Given the description of an element on the screen output the (x, y) to click on. 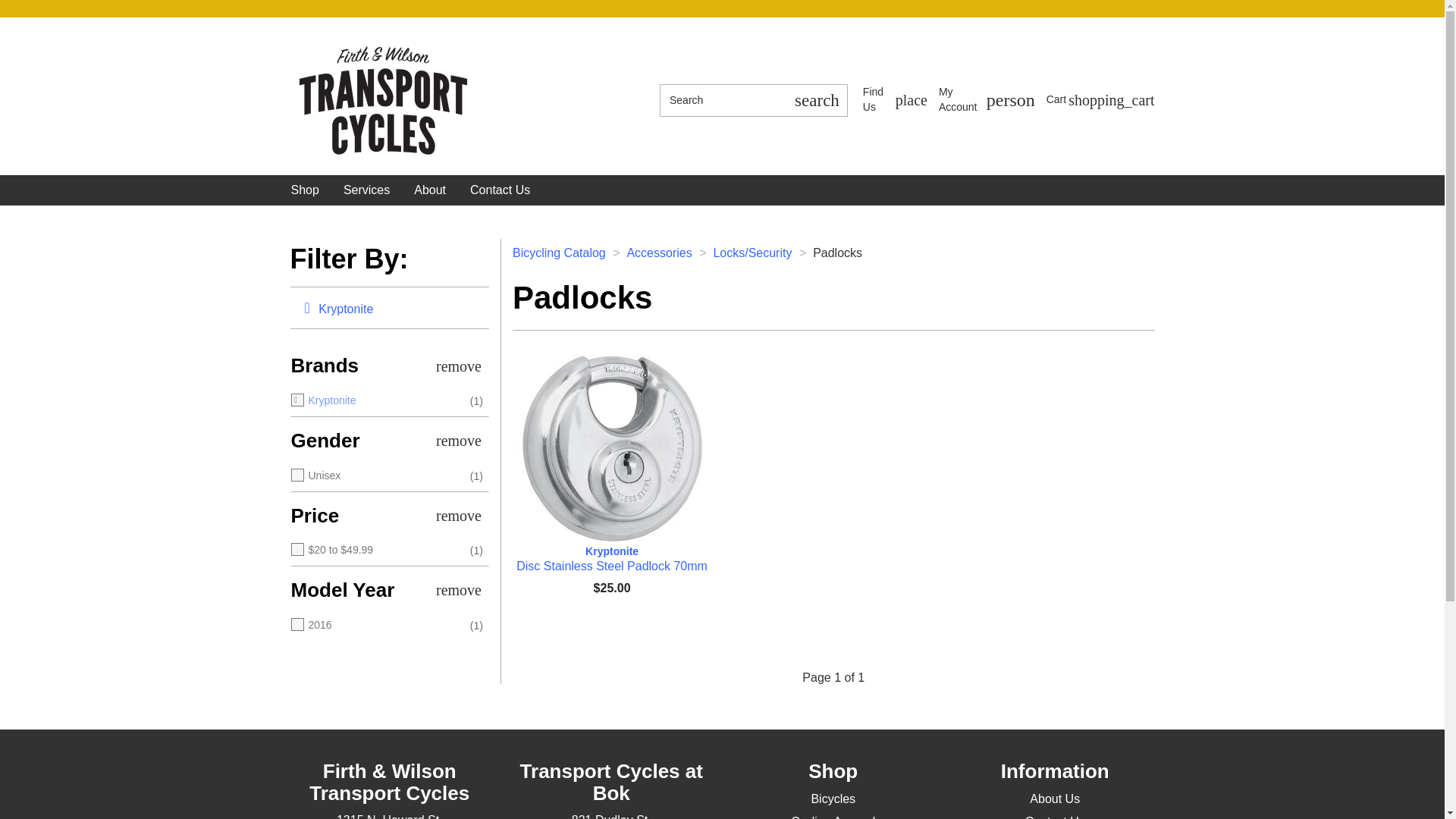
Search (895, 100)
Account (722, 100)
Shop (987, 100)
Stores (304, 190)
Search (895, 100)
Kryptonite Disc Stainless Steel Padlock 70mm (987, 100)
Kryptonite Disc Stainless Steel Padlock 70mm (1100, 99)
